Given the description of an element on the screen output the (x, y) to click on. 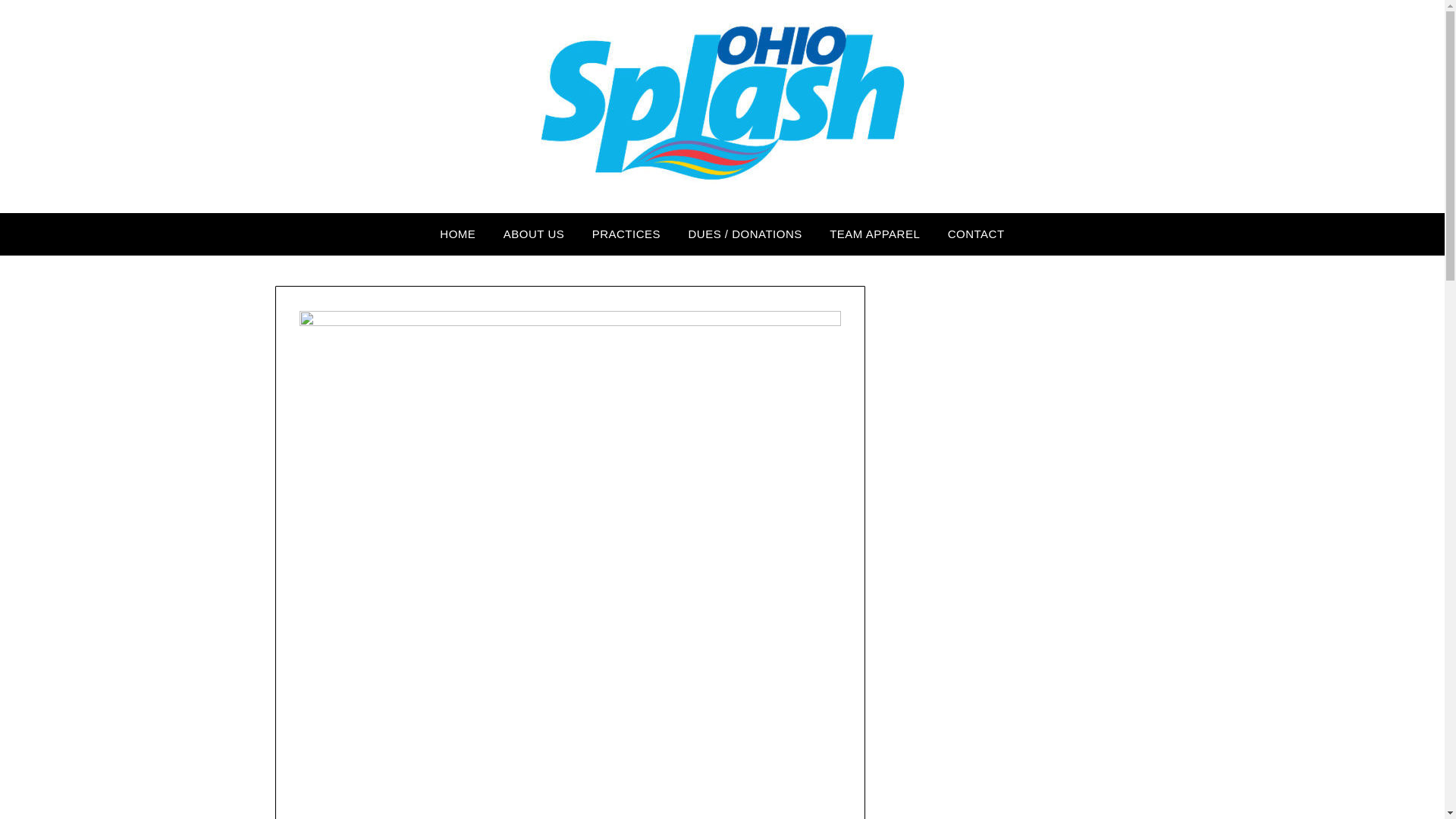
HOME (457, 233)
CONTACT (976, 233)
TEAM APPAREL (873, 233)
PRACTICES (625, 233)
ABOUT US (534, 233)
